Given the description of an element on the screen output the (x, y) to click on. 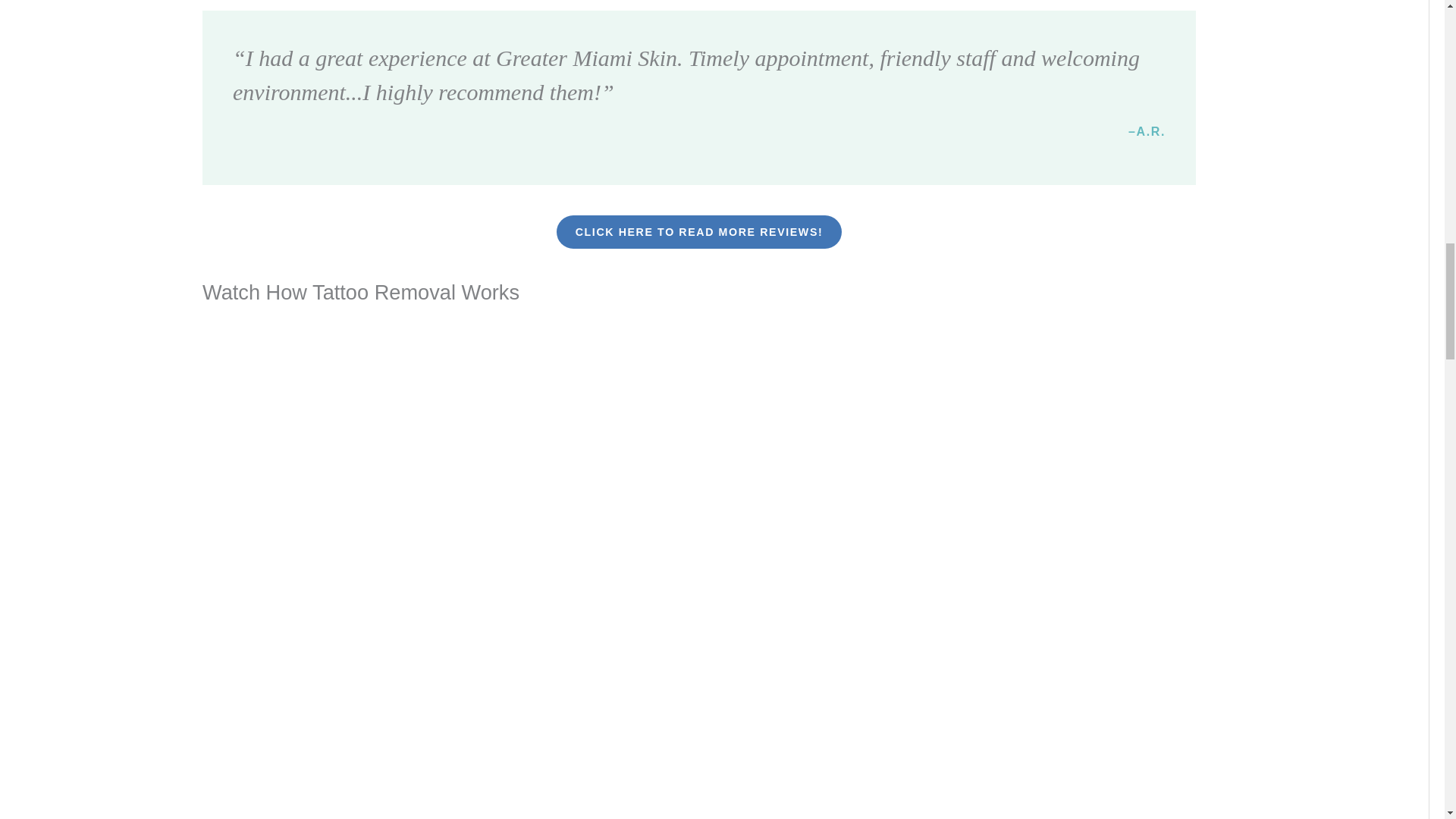
Click Here (699, 231)
YouTube video player (467, 739)
